Given the description of an element on the screen output the (x, y) to click on. 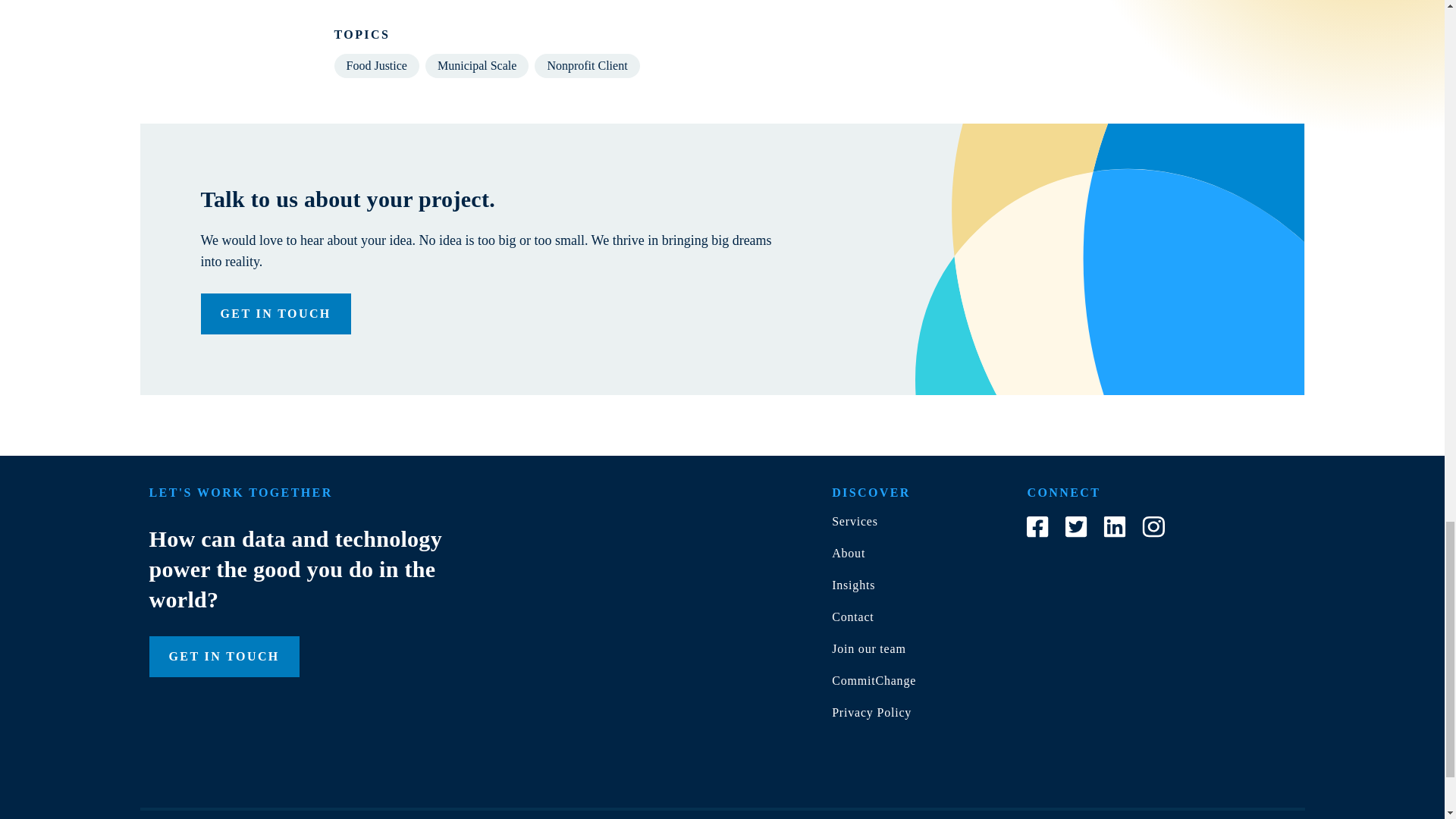
Insights (853, 584)
CommitChange (873, 680)
About (847, 553)
Privacy Policy (871, 712)
Municipal Scale (476, 65)
GET IN TOUCH (275, 313)
GET IN TOUCH (223, 656)
Contact (852, 616)
Food Justice (376, 65)
Nonprofit Client (586, 65)
Services (854, 521)
Join our team (868, 648)
